Given the description of an element on the screen output the (x, y) to click on. 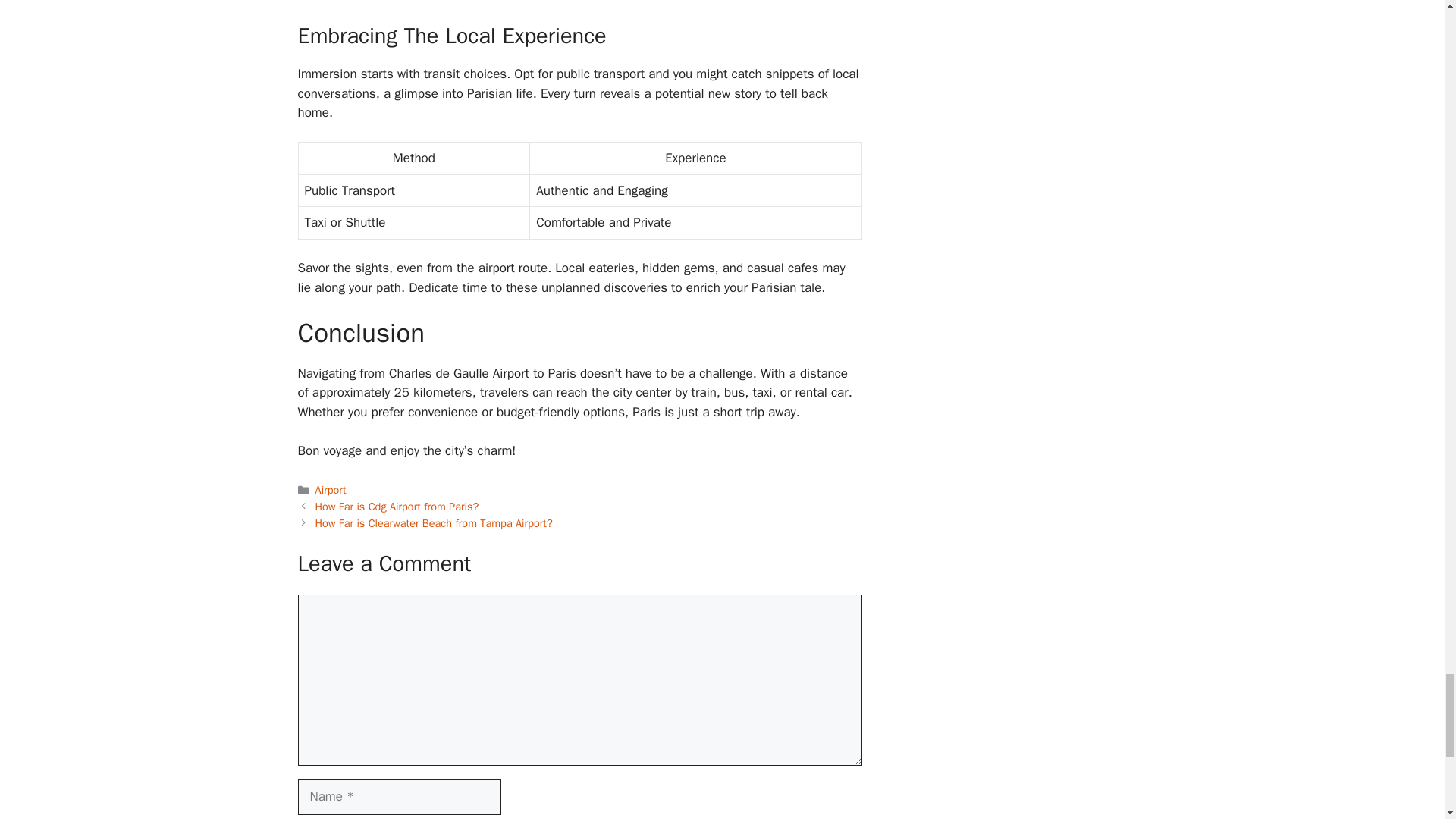
How Far is Cdg Airport from Paris? (397, 506)
Airport (330, 489)
How Far is Clearwater Beach from Tampa Airport? (434, 522)
